Given the description of an element on the screen output the (x, y) to click on. 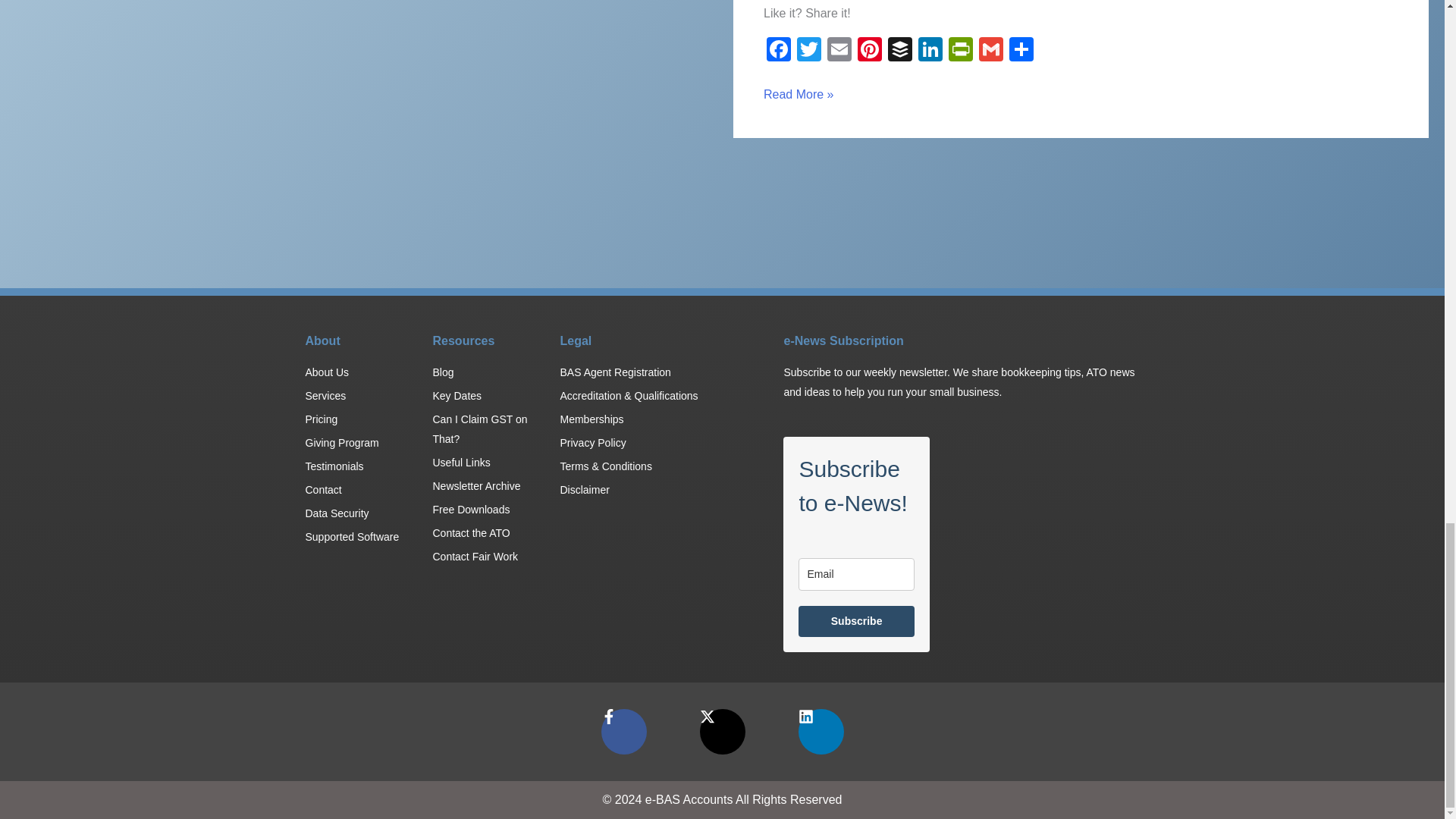
Facebook (777, 50)
